Given the description of an element on the screen output the (x, y) to click on. 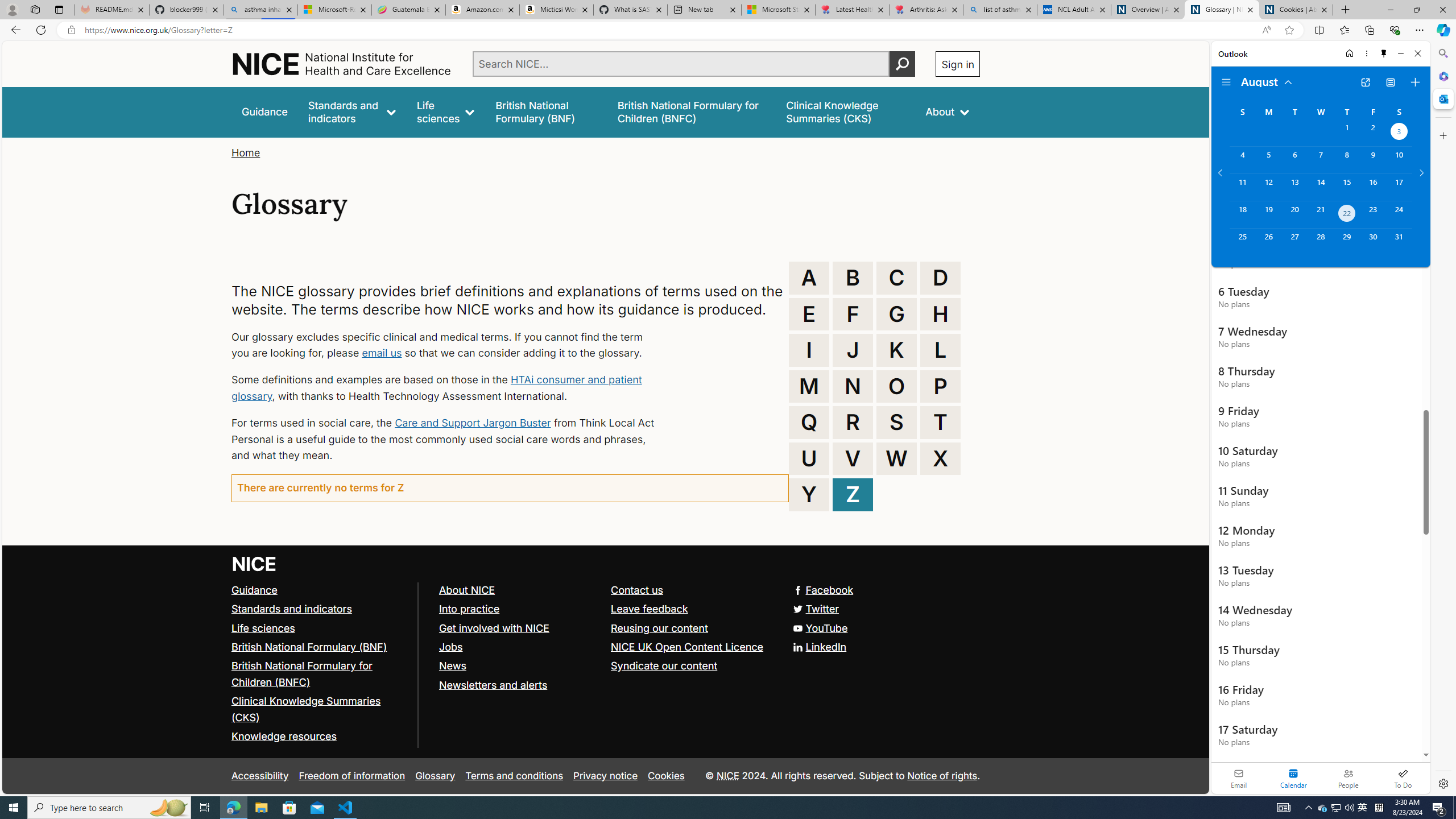
Accessibility (259, 775)
Selected calendar module. Date today is 22 (1293, 777)
Freedom of information (352, 775)
August (1267, 80)
E (809, 313)
Into practice (518, 609)
Get involved with NICE (493, 627)
Sunday, August 4, 2024.  (1242, 159)
Sunday, August 18, 2024.  (1242, 214)
Into practice (468, 608)
C (896, 277)
Y (809, 494)
